Given the description of an element on the screen output the (x, y) to click on. 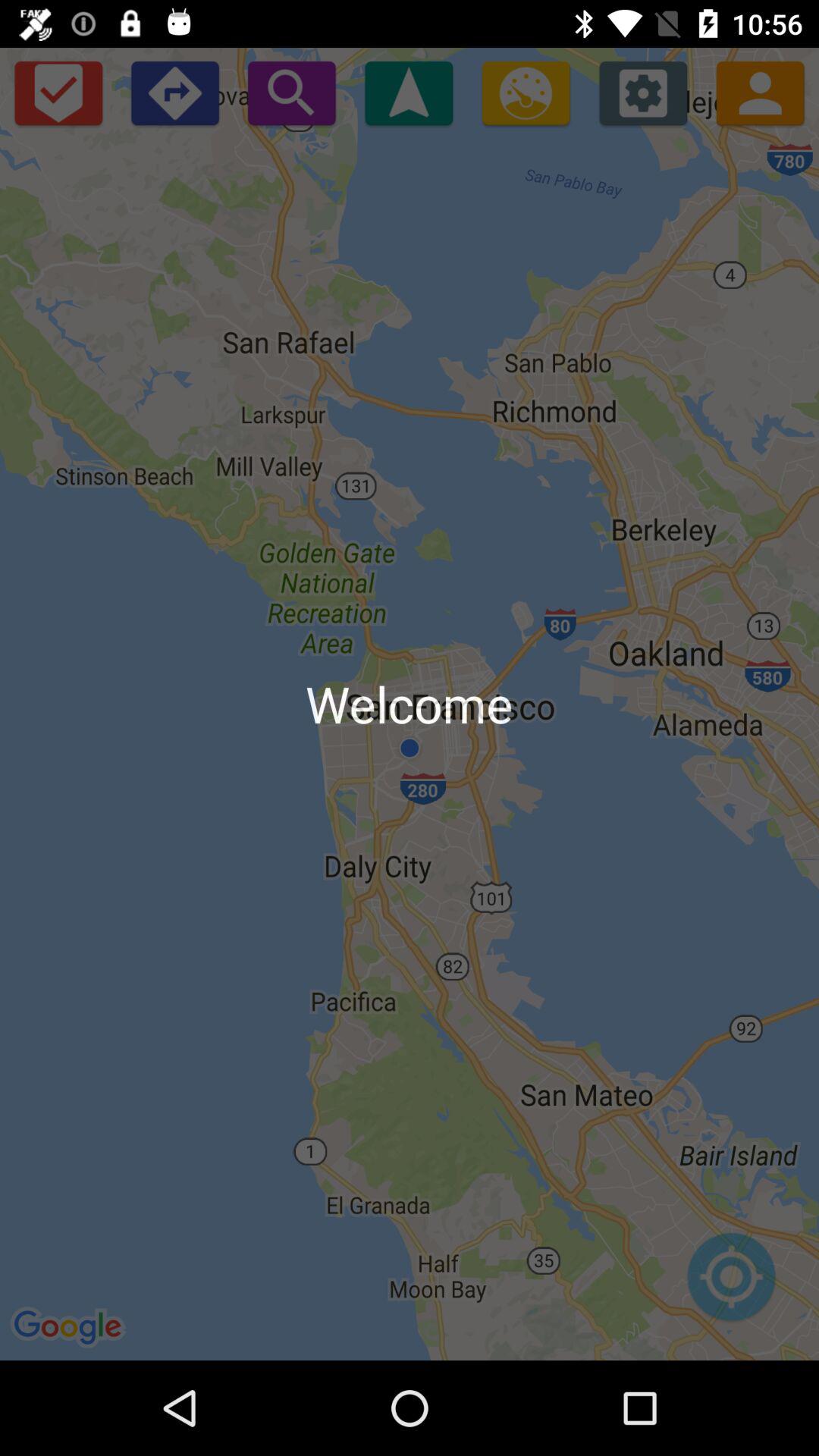
spot where you are (731, 1284)
